Given the description of an element on the screen output the (x, y) to click on. 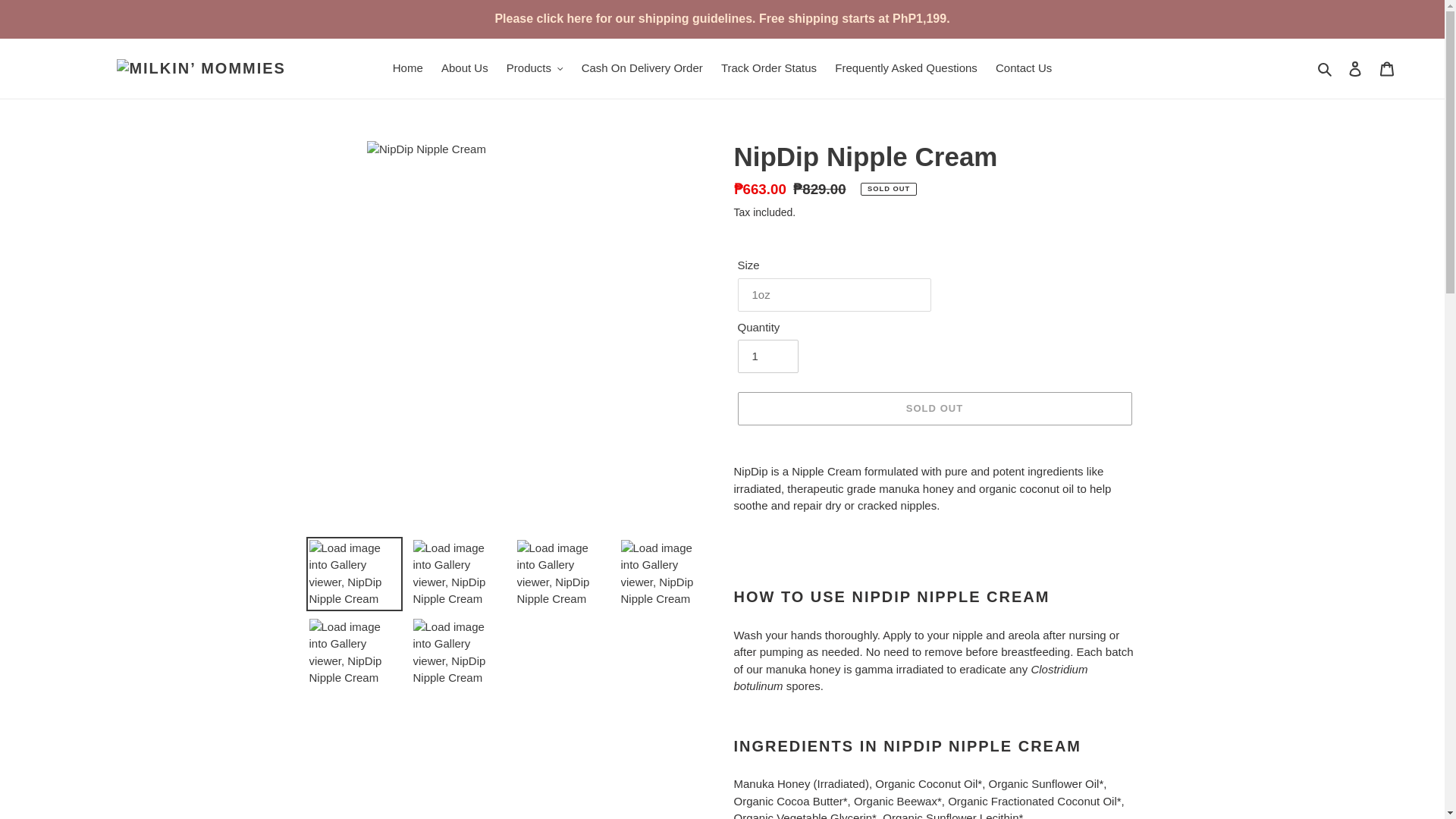
Products (534, 68)
Track Order Status (768, 68)
Log in (1355, 68)
Search (1326, 67)
Contact Us (1023, 68)
Cash On Delivery Order (641, 68)
1 (766, 356)
Cart (1387, 68)
Frequently Asked Questions (906, 68)
